Given the description of an element on the screen output the (x, y) to click on. 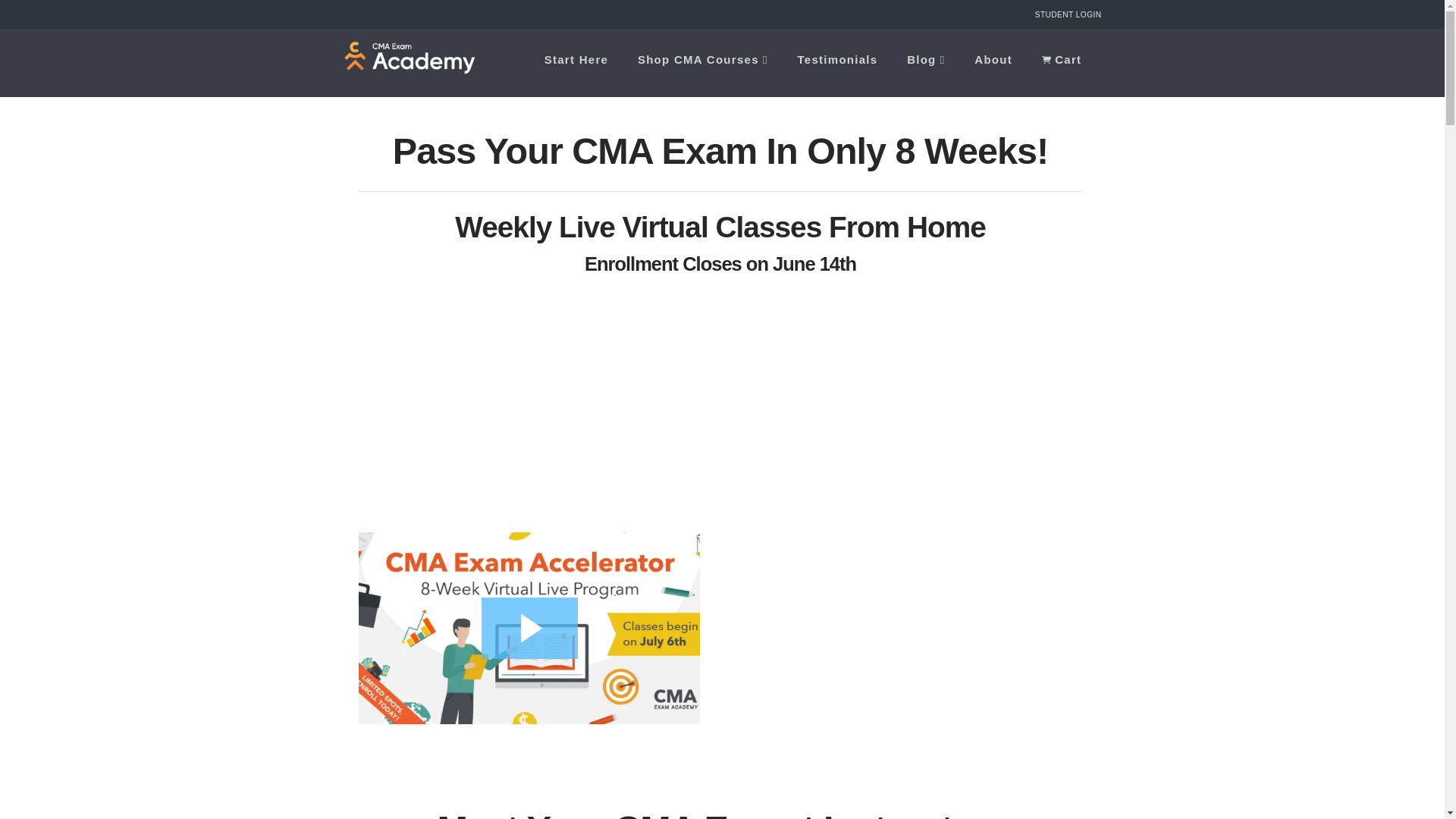
Shop CMA Courses (703, 62)
Blog (925, 62)
Cart (1064, 62)
STUDENT LOGIN (1068, 14)
Start Here (576, 62)
About (992, 62)
Testimonials (837, 62)
